Given the description of an element on the screen output the (x, y) to click on. 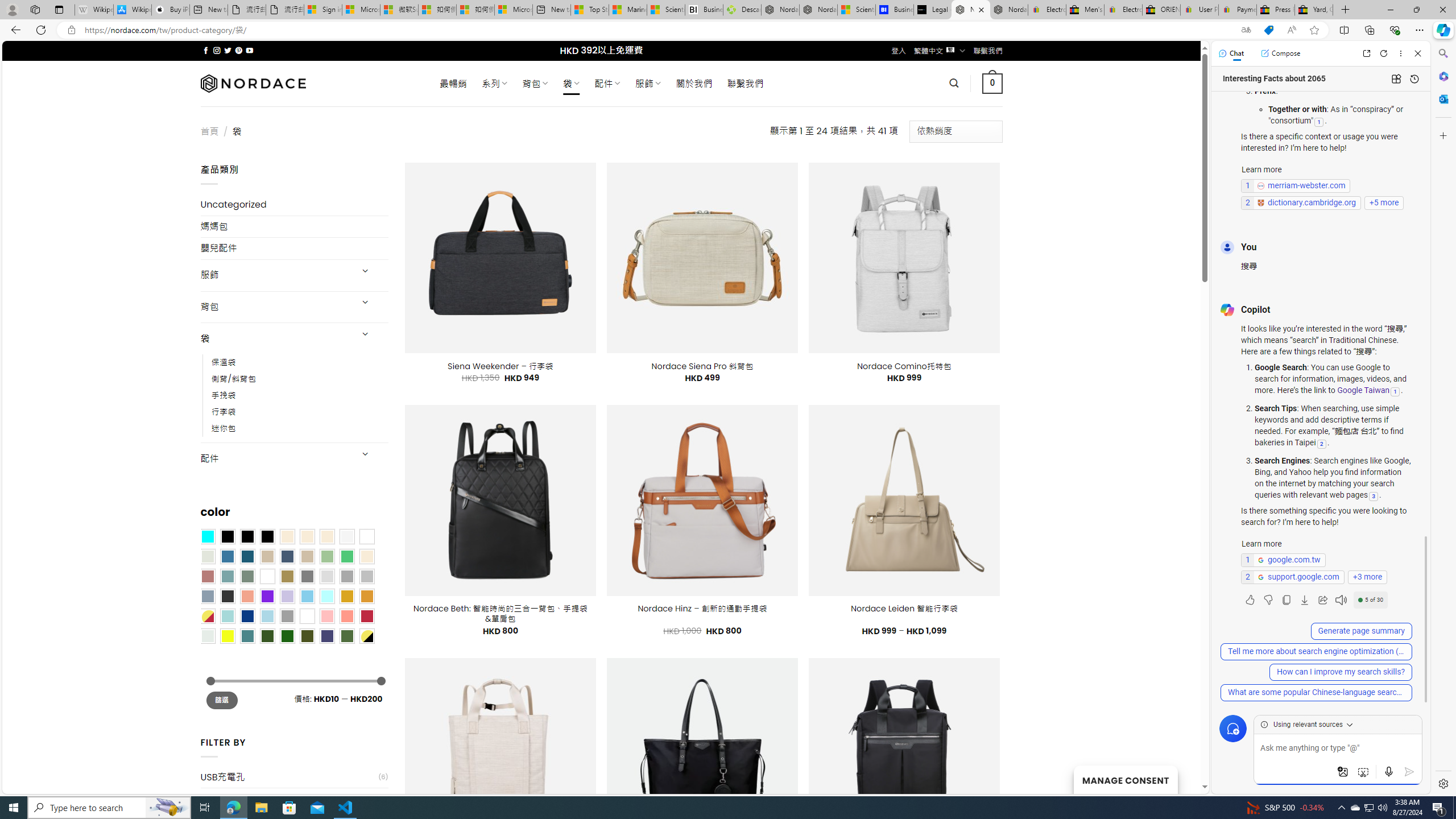
Cream (327, 536)
Uncategorized (294, 204)
